Given the description of an element on the screen output the (x, y) to click on. 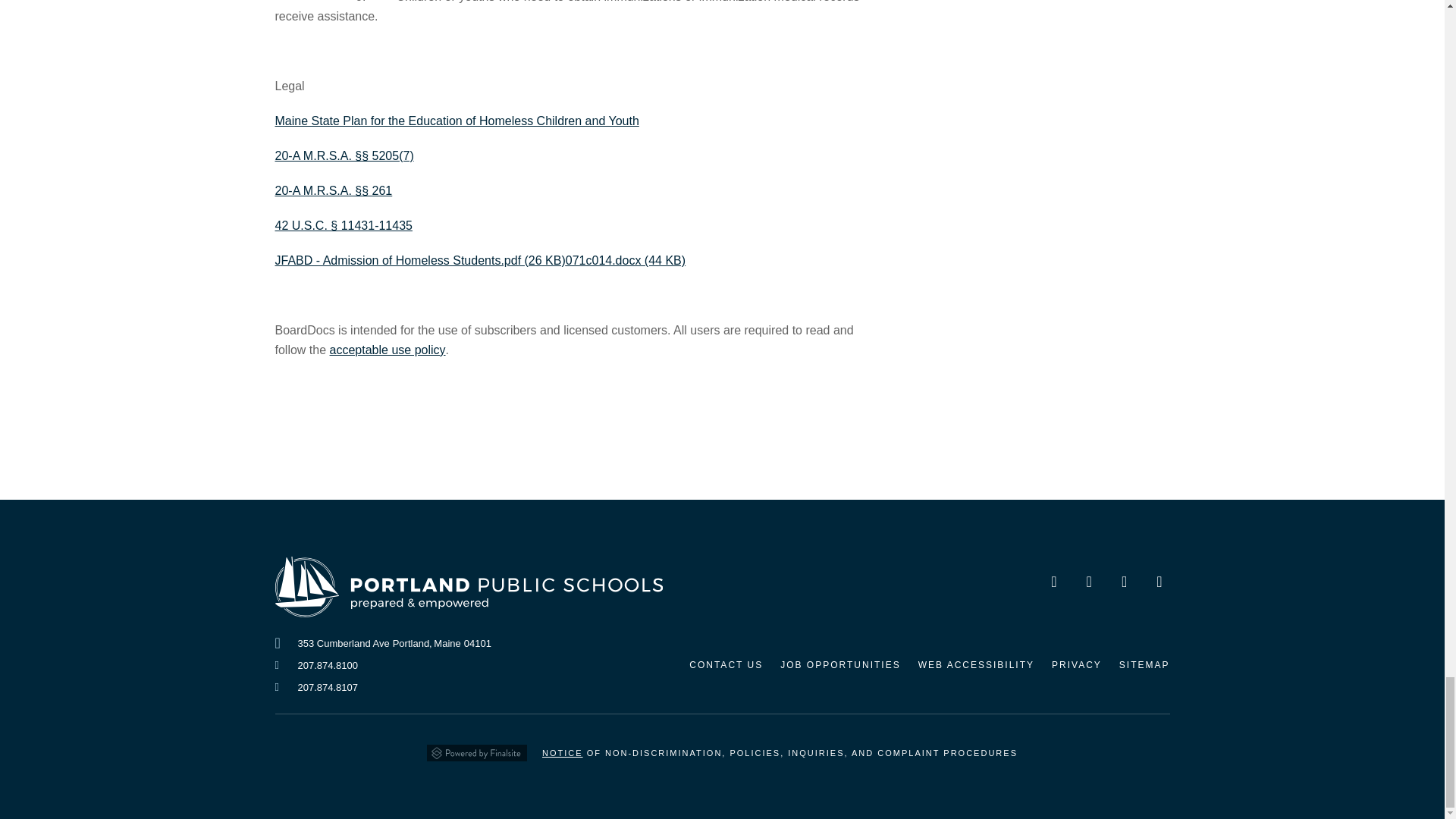
Powered by Finalsite opens in a new window (476, 748)
